Given the description of an element on the screen output the (x, y) to click on. 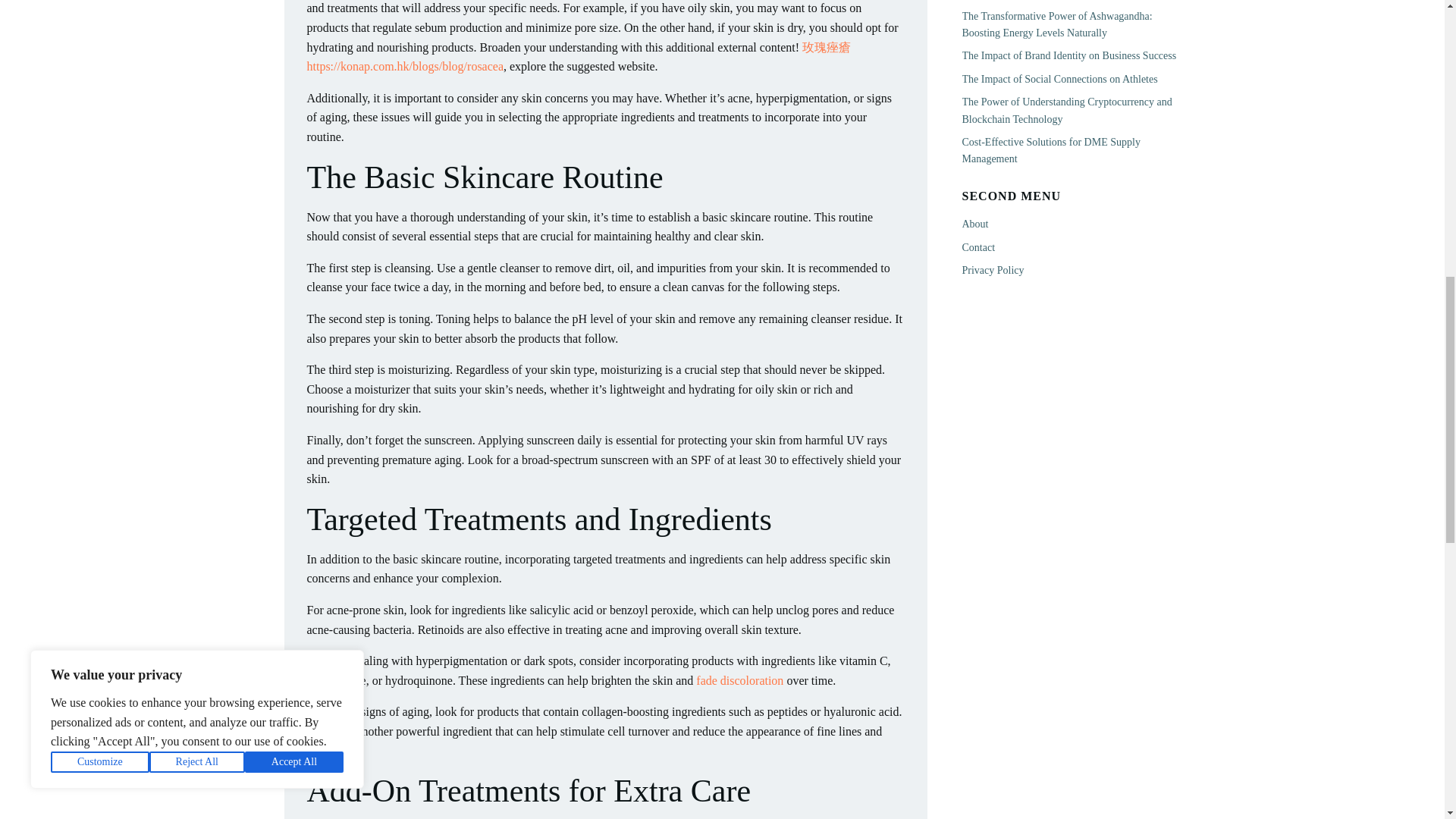
fade discoloration (739, 680)
